Given the description of an element on the screen output the (x, y) to click on. 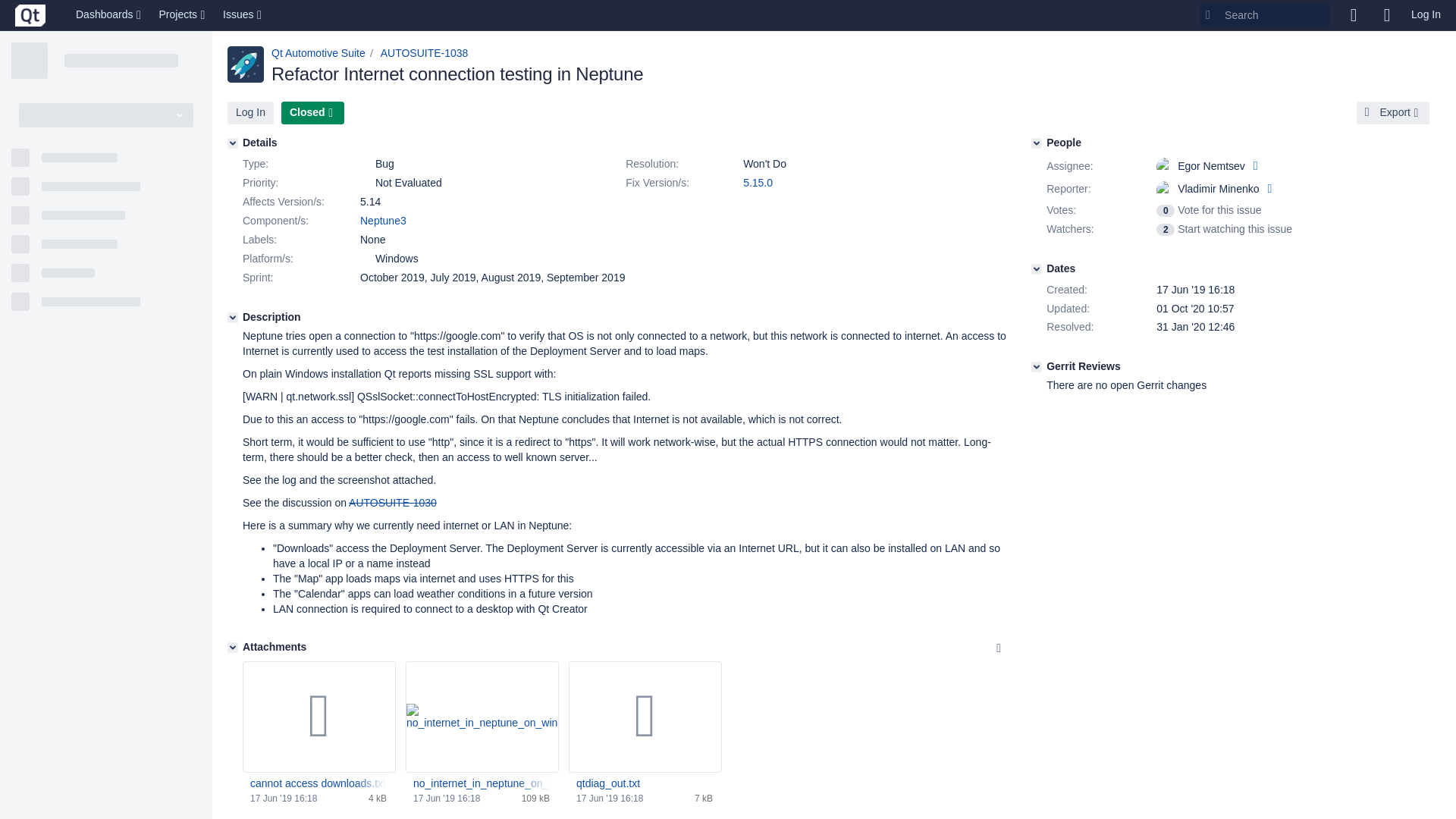
AUTOSUITE-1030 (392, 502)
Type (299, 164)
Help (1386, 15)
5.15.0 (757, 182)
Issues (242, 15)
AUTOSUITE-1038 (424, 52)
Help (1386, 15)
Priority (299, 183)
Options (998, 648)
